Given the description of an element on the screen output the (x, y) to click on. 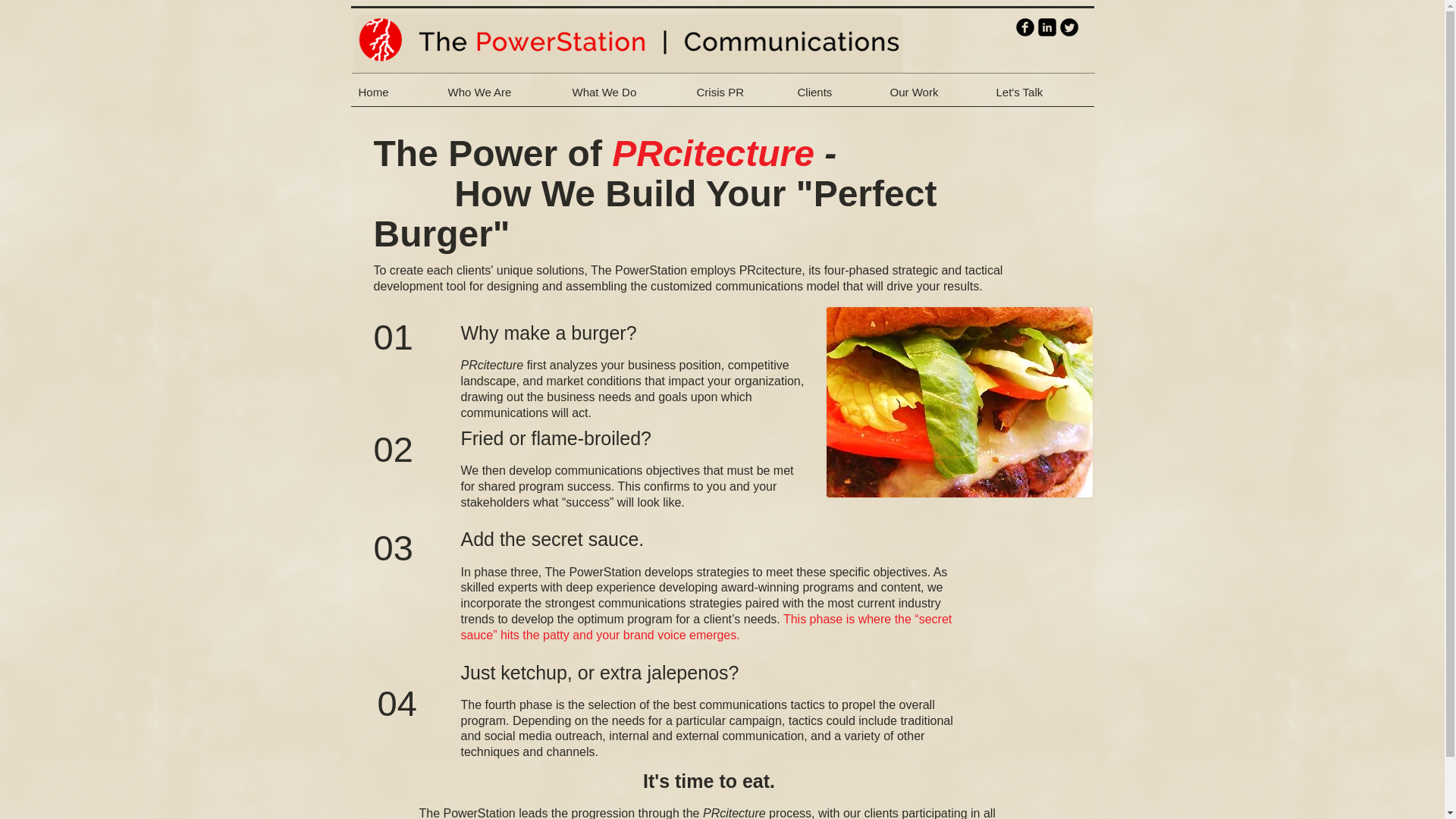
Our Work (935, 96)
Who We Are (501, 96)
What We Do (626, 96)
Let's Talk (1041, 96)
Crisis PR (738, 96)
Clients (836, 96)
Home (394, 96)
